Given the description of an element on the screen output the (x, y) to click on. 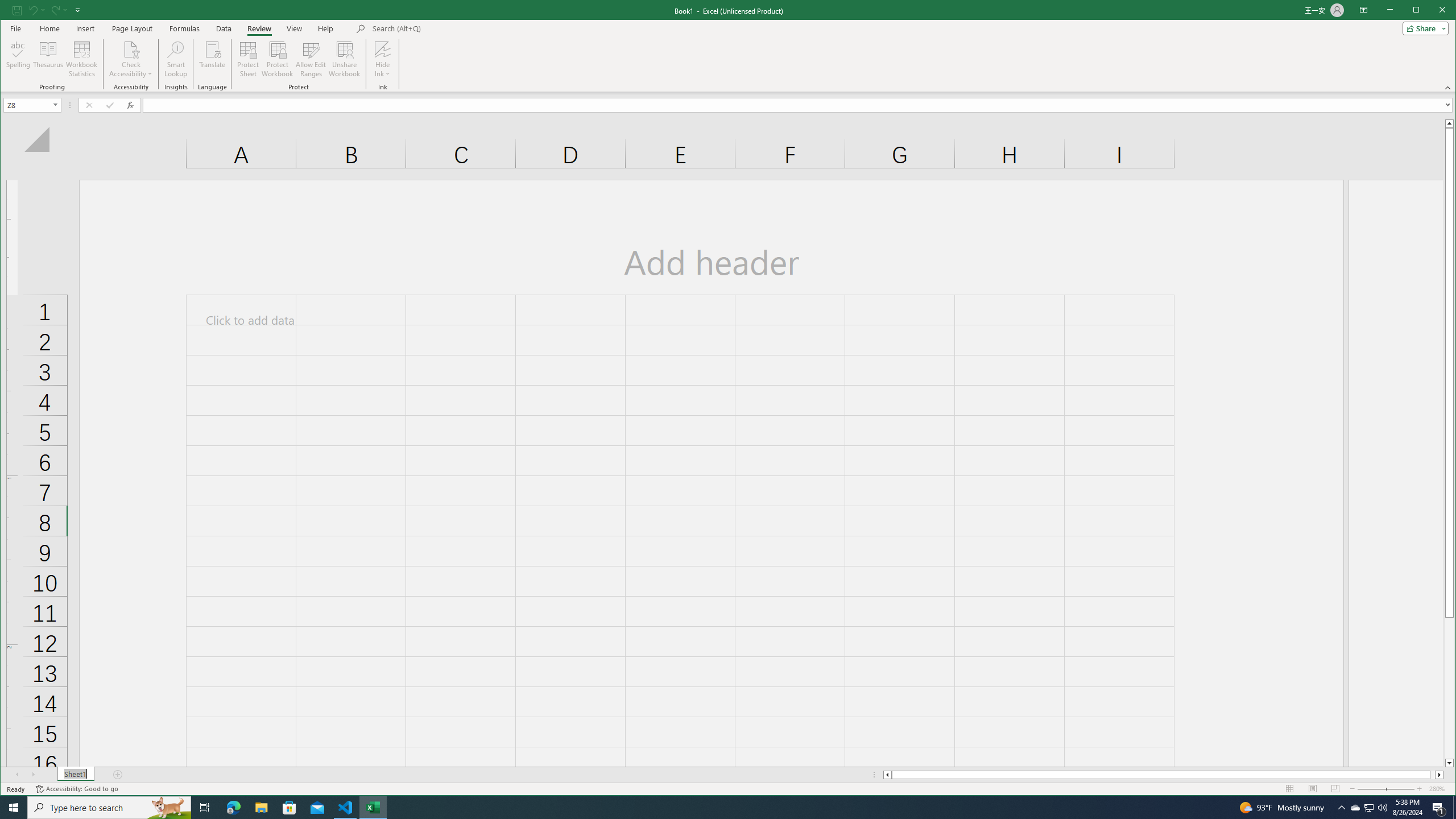
Class: MsoCommandBar (728, 45)
Excel - 1 running window (373, 807)
Microsoft Edge (233, 807)
Show desktop (1454, 807)
Thesaurus... (48, 59)
Running applications (717, 807)
Hide Ink (382, 48)
Type here to search (108, 807)
